Given the description of an element on the screen output the (x, y) to click on. 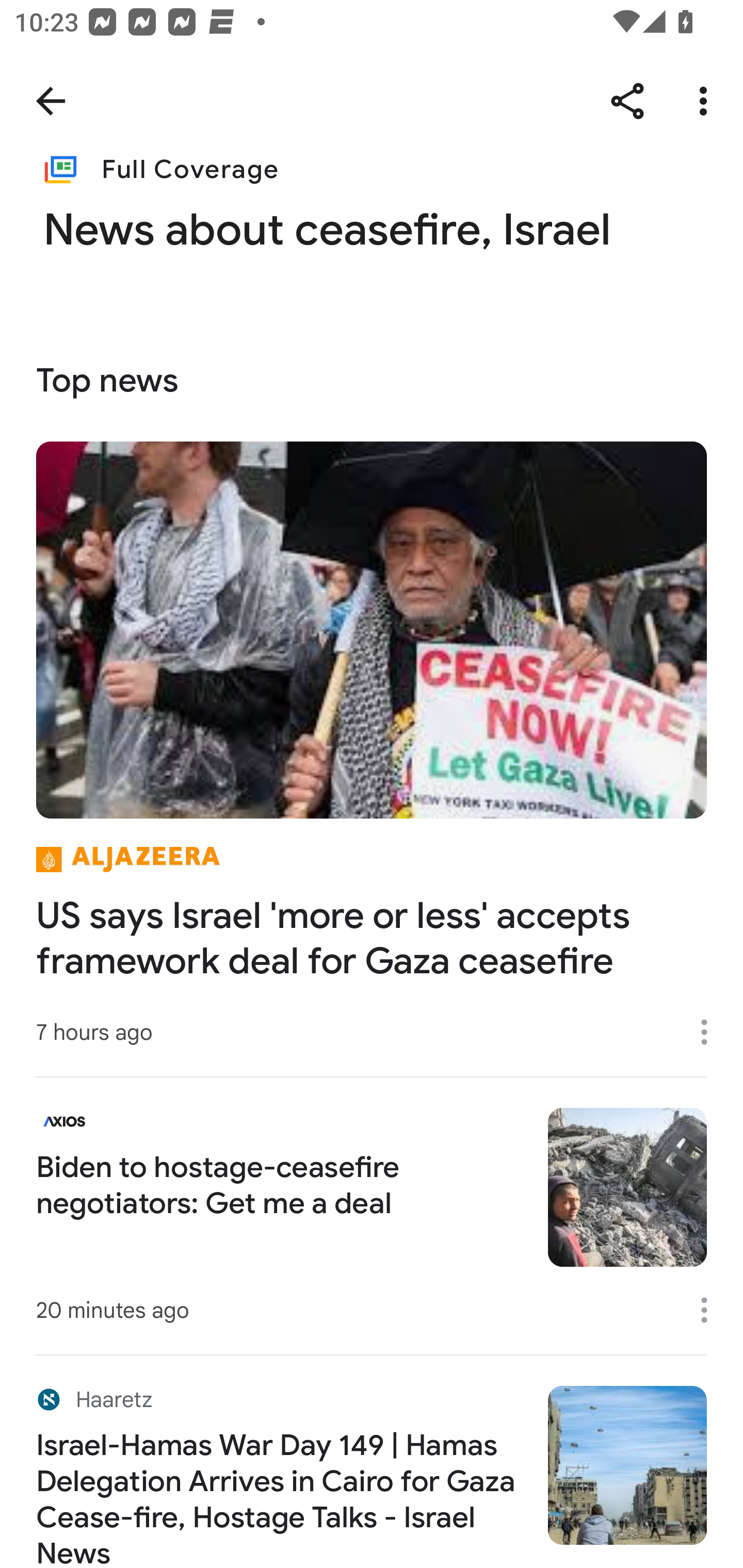
Navigate up (50, 101)
Share (626, 101)
More options (706, 101)
More options (711, 1032)
More options (711, 1309)
